Given the description of an element on the screen output the (x, y) to click on. 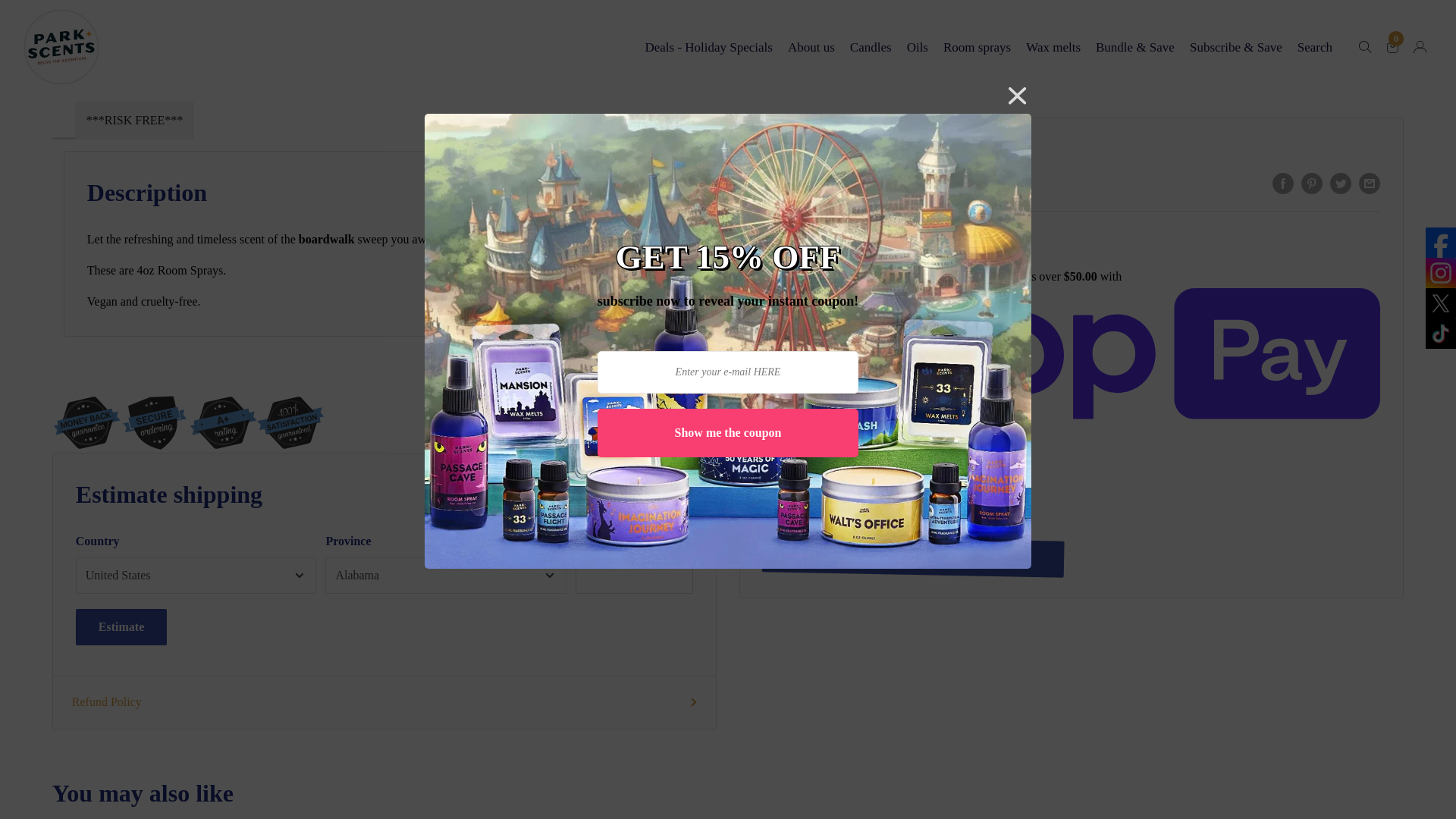
Royal Sapphire Room Spray (270, 0)
Boardwalk Inn Room Spray (119, 0)
